Given the description of an element on the screen output the (x, y) to click on. 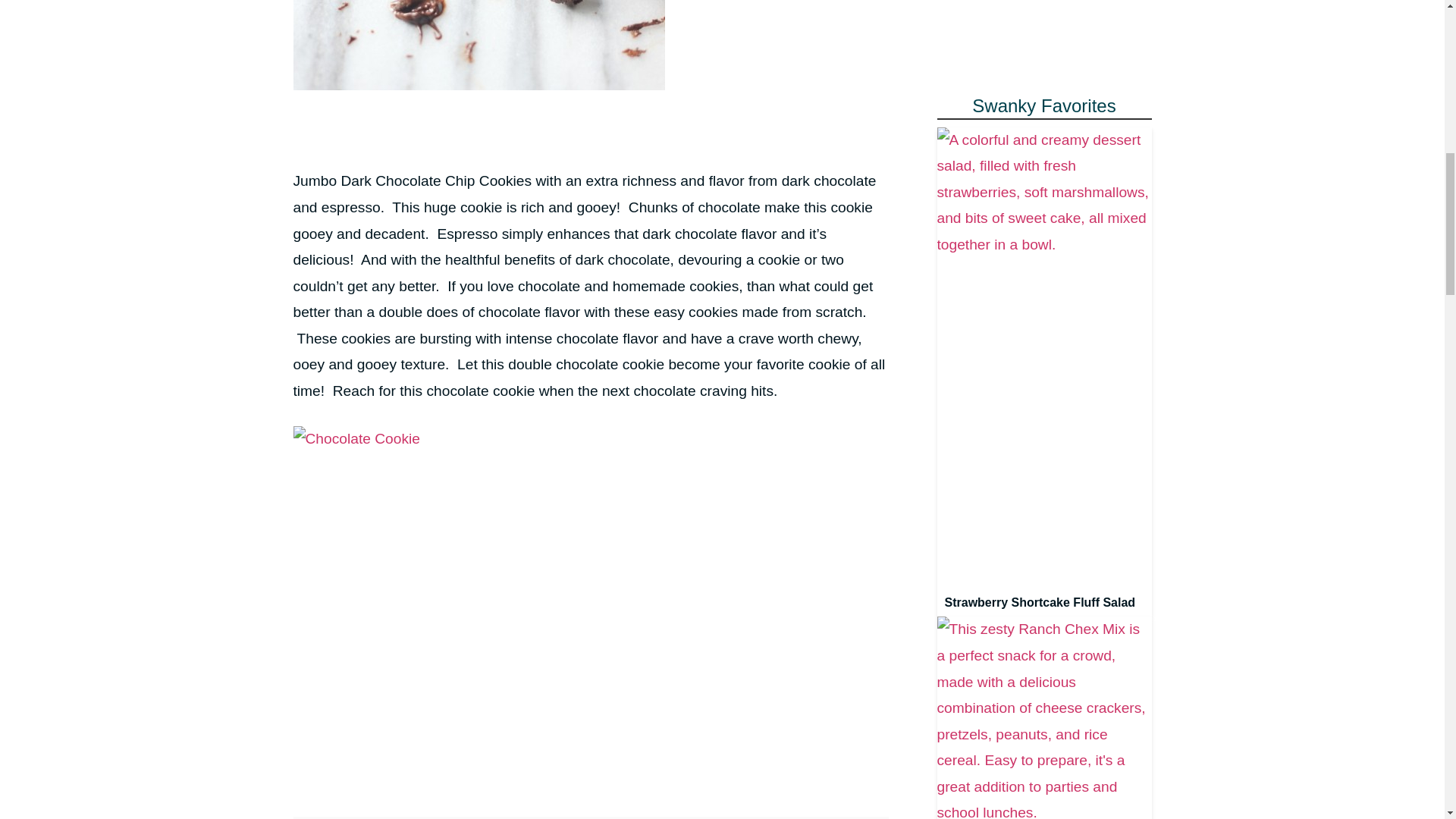
Big Dark Chocolate Chip Cookie 2 (355, 438)
Big Dark Chocolate Chip Cookie 1 (477, 45)
